Given the description of an element on the screen output the (x, y) to click on. 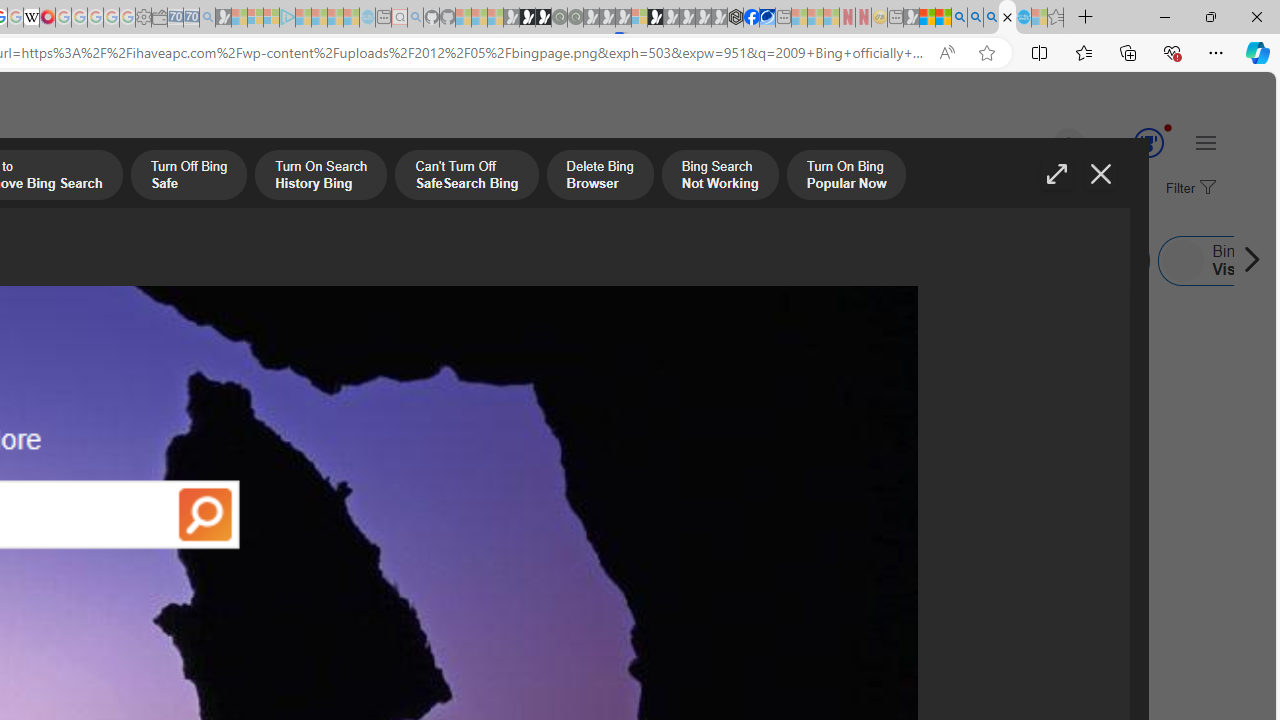
Turn On Bing Popular Now (845, 177)
Bing Logo, symbol, meaning, history, PNG, brand (695, 508)
Bing Search Not Working (719, 177)
AutomationID: serp_medal_svg (1148, 142)
Technology History timeline | Timetoast timelines (185, 508)
